Given the description of an element on the screen output the (x, y) to click on. 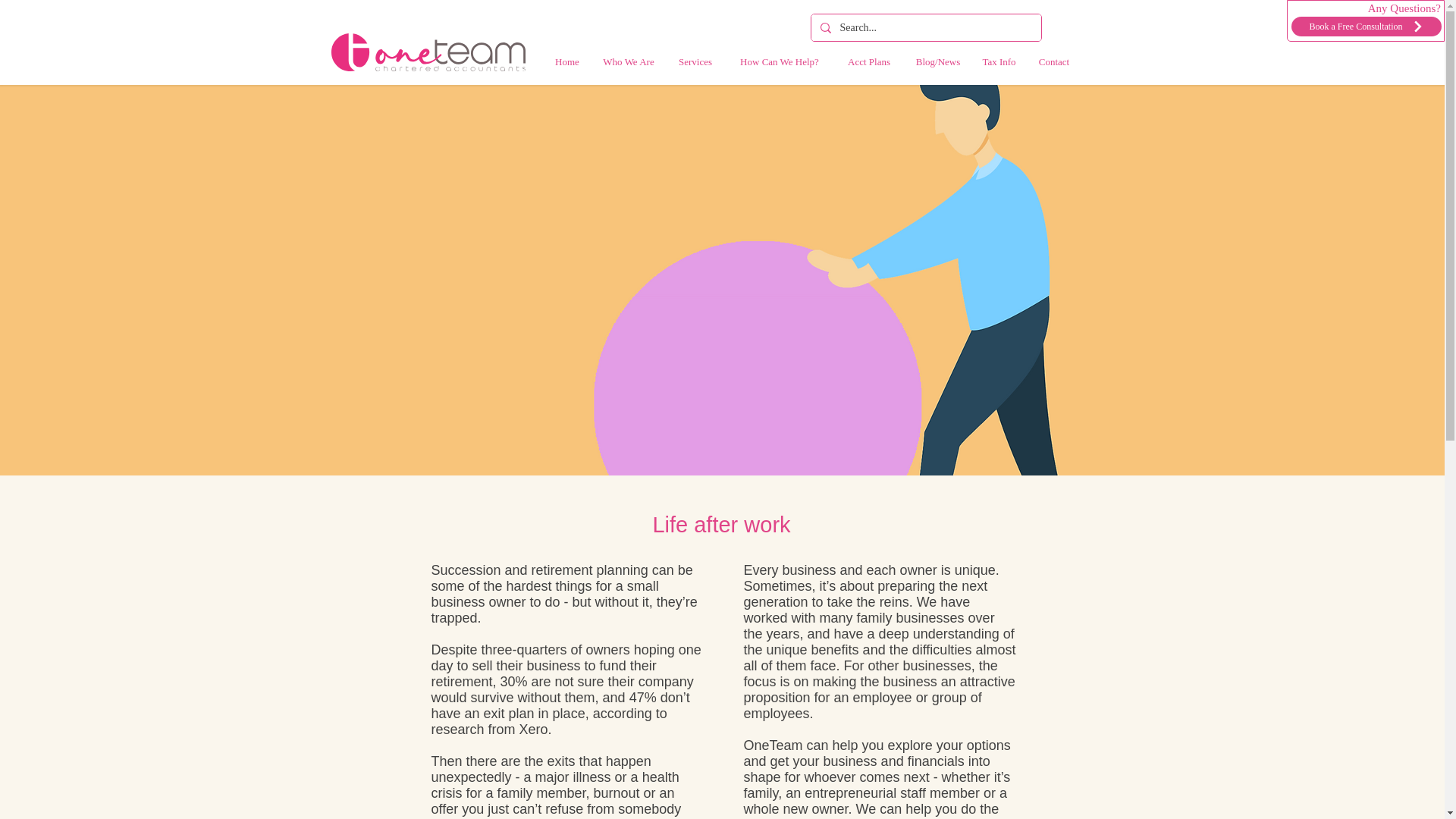
Tax Info (998, 61)
Contact (1053, 61)
Home (567, 61)
Book a Free Consultation (1366, 26)
Acct Plans (868, 61)
